Given the description of an element on the screen output the (x, y) to click on. 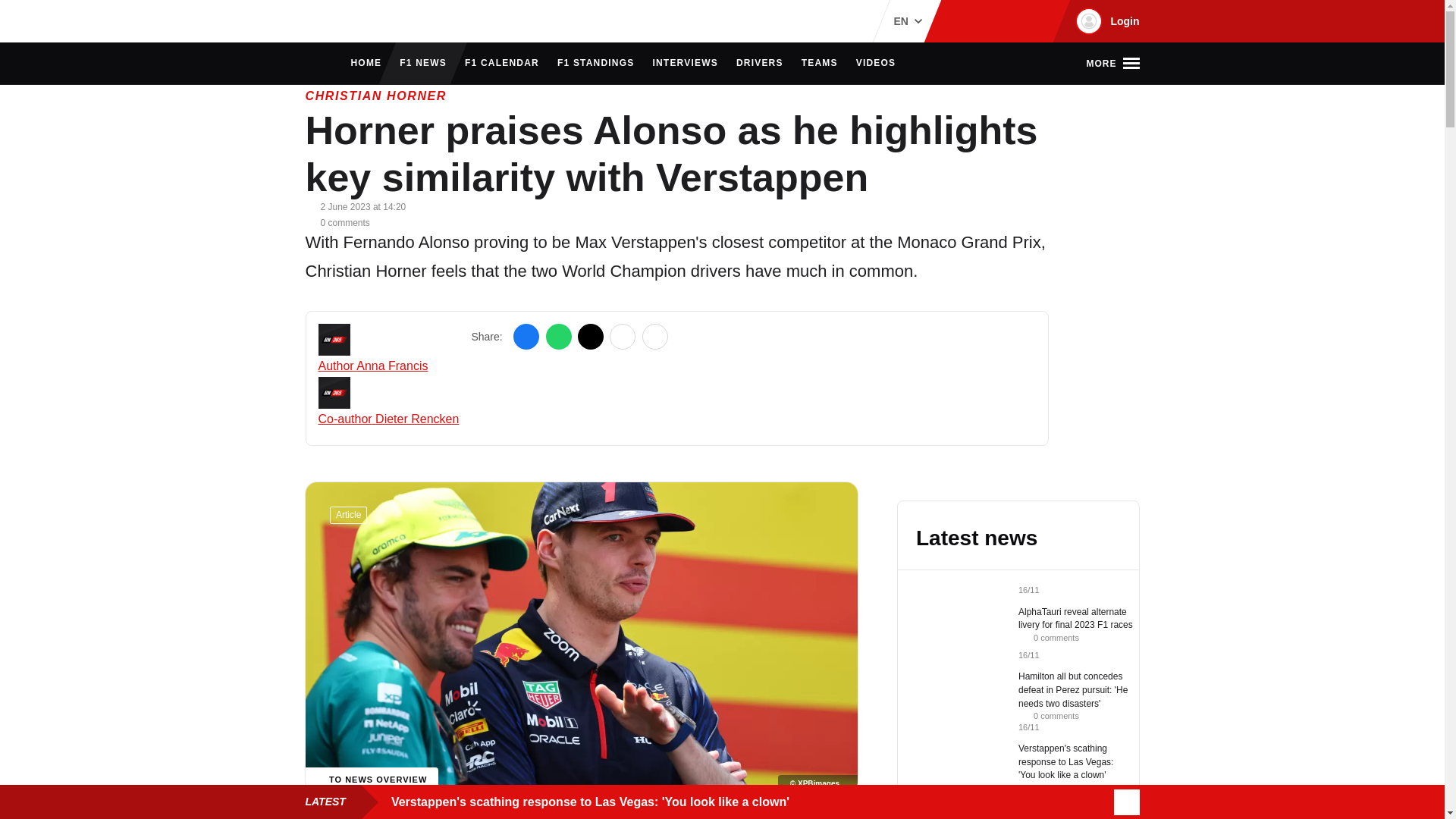
RacingNews365 on Instagram (962, 21)
CHRISTIAN HORNER (375, 96)
Login (1104, 21)
Friday 2 June 2023 at 14:20 (363, 206)
F1 STANDINGS (595, 63)
0 comments (336, 220)
F1 NEWS (422, 63)
RacingNews365 on YouTube (1034, 21)
DRIVERS (759, 63)
RacingNews365 on Facebook (986, 21)
INTERVIEWS (684, 63)
F1 CALENDAR (501, 63)
VIDEOS (876, 63)
RacingNews365 (350, 21)
RacingNews365 on X (1010, 21)
